Given the description of an element on the screen output the (x, y) to click on. 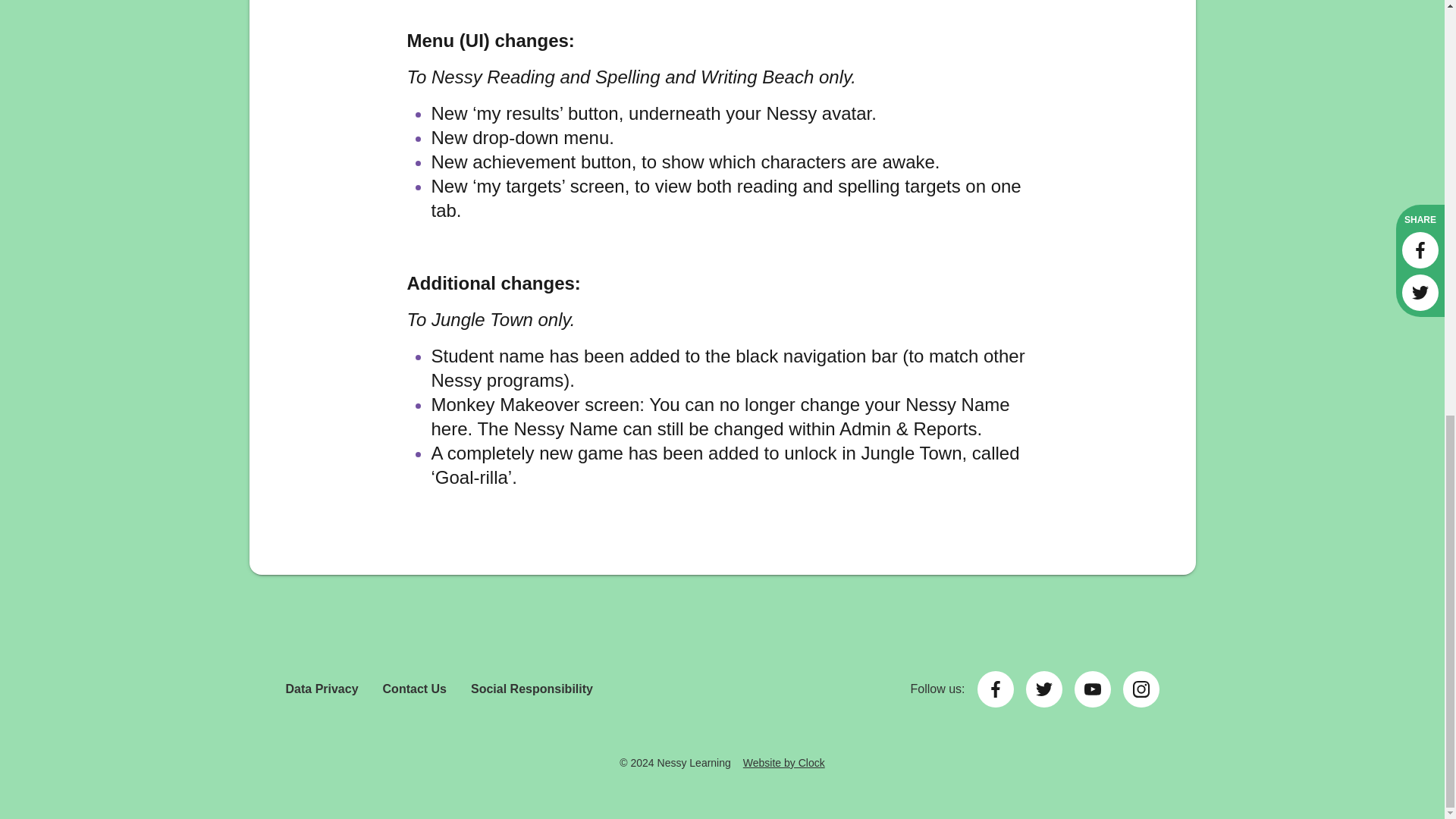
Website by Clock (783, 762)
Social Responsibility (531, 689)
Data Privacy (321, 689)
Nessy (722, 721)
Contact Us (414, 689)
